Given the description of an element on the screen output the (x, y) to click on. 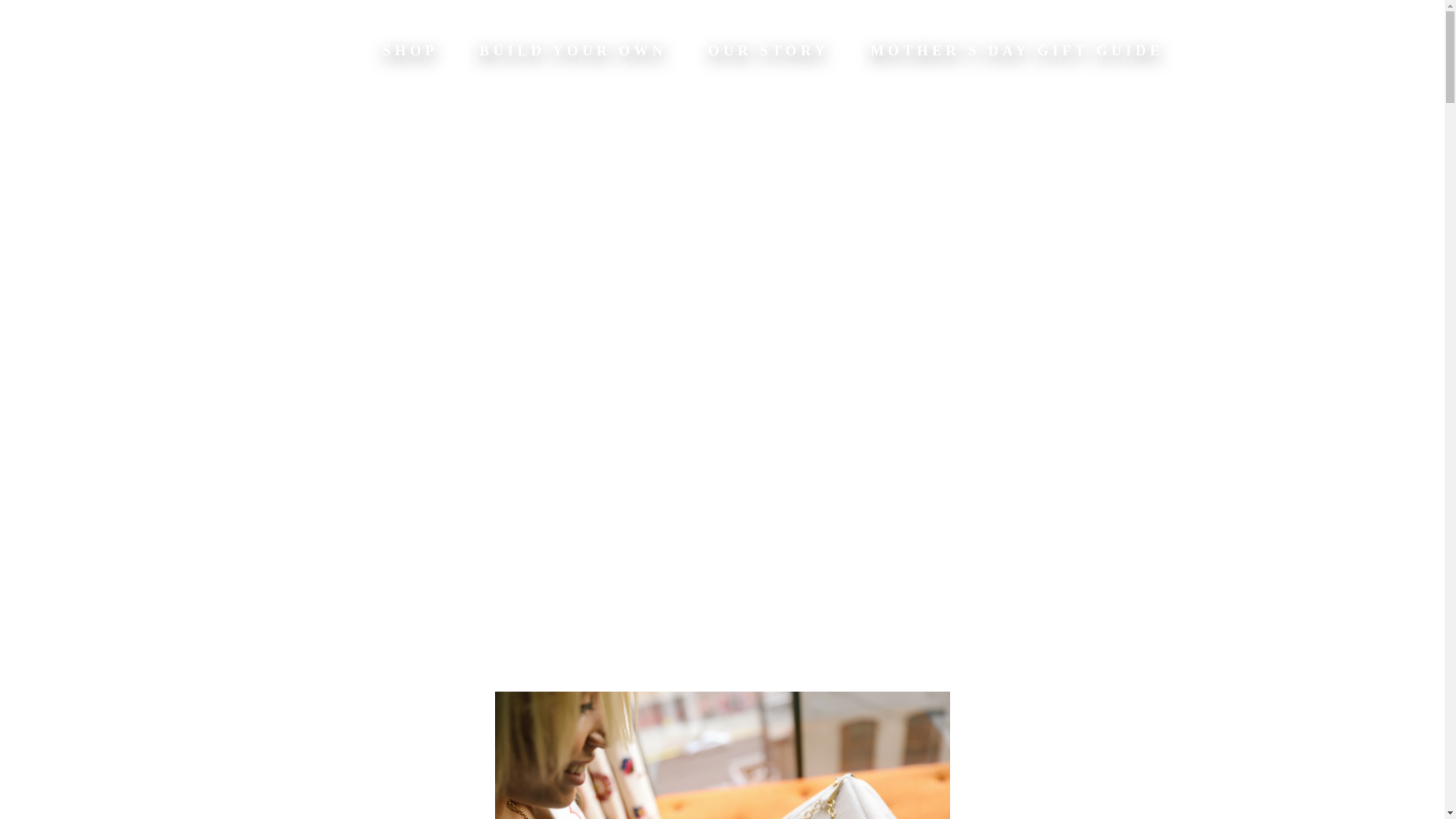
BUILD YOUR OWN (572, 50)
MOTHER'S DAY GIFT GUIDE (1016, 50)
OUR STORY (767, 50)
SHOP (410, 50)
